Given the description of an element on the screen output the (x, y) to click on. 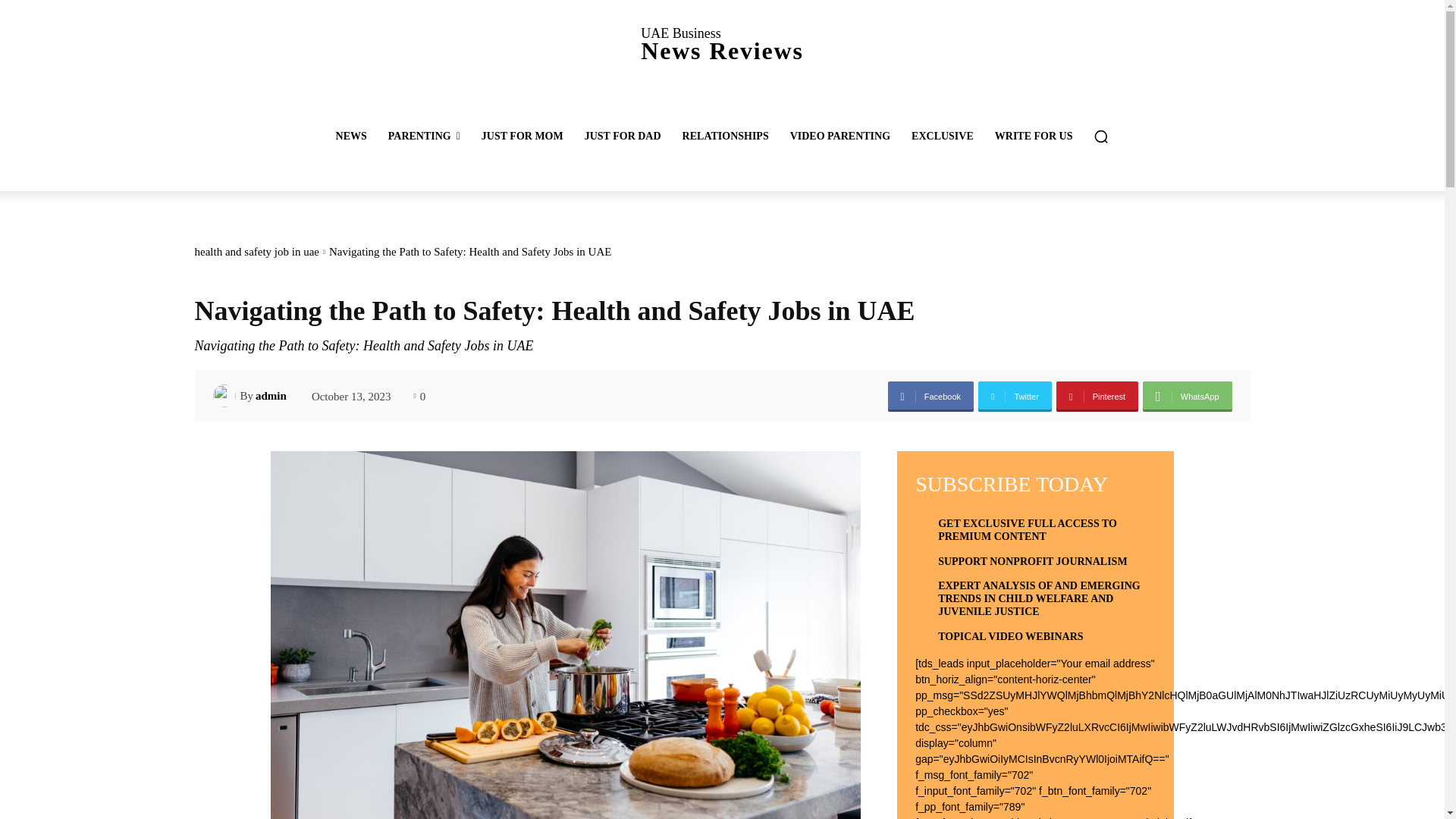
WRITE FOR US (1033, 135)
JUST FOR MOM (521, 135)
RELATIONSHIPS (724, 135)
PARENTING (423, 135)
EXCLUSIVE (942, 135)
VIDEO PARENTING (839, 135)
NEWS (350, 135)
JUST FOR DAD (721, 44)
View all posts in health and safety job in uae (622, 135)
